Given the description of an element on the screen output the (x, y) to click on. 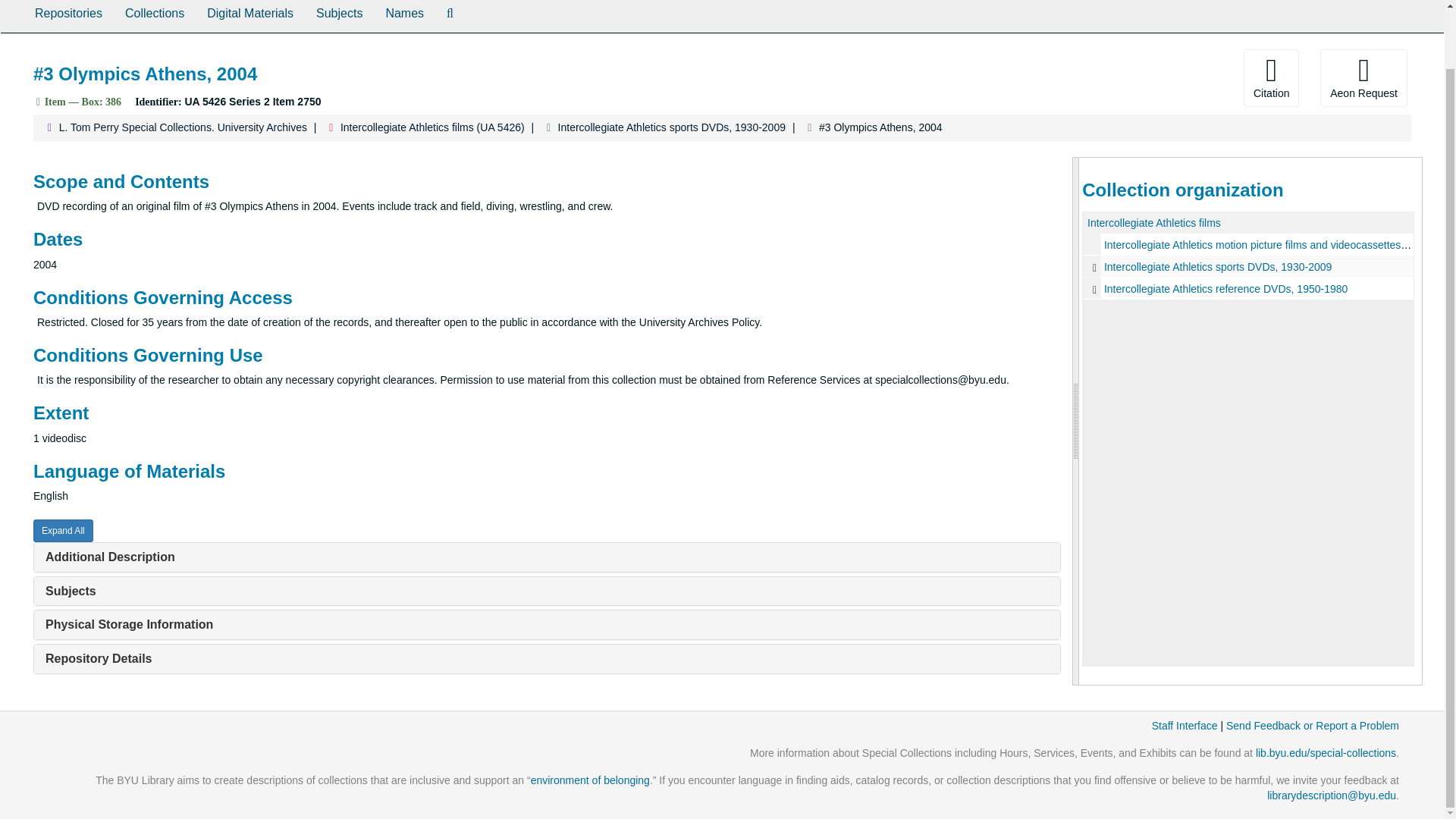
Physical Storage Information (128, 624)
Intercollegiate Athletics sports DVDs (1248, 266)
Subjects (70, 590)
Citation (1270, 78)
Repository Details (98, 658)
Collections (154, 16)
L. Tom Perry Special Collections. University Archives (183, 127)
Subjects (339, 16)
Page Actions (1130, 78)
Search The Archives (449, 16)
